Given the description of an element on the screen output the (x, y) to click on. 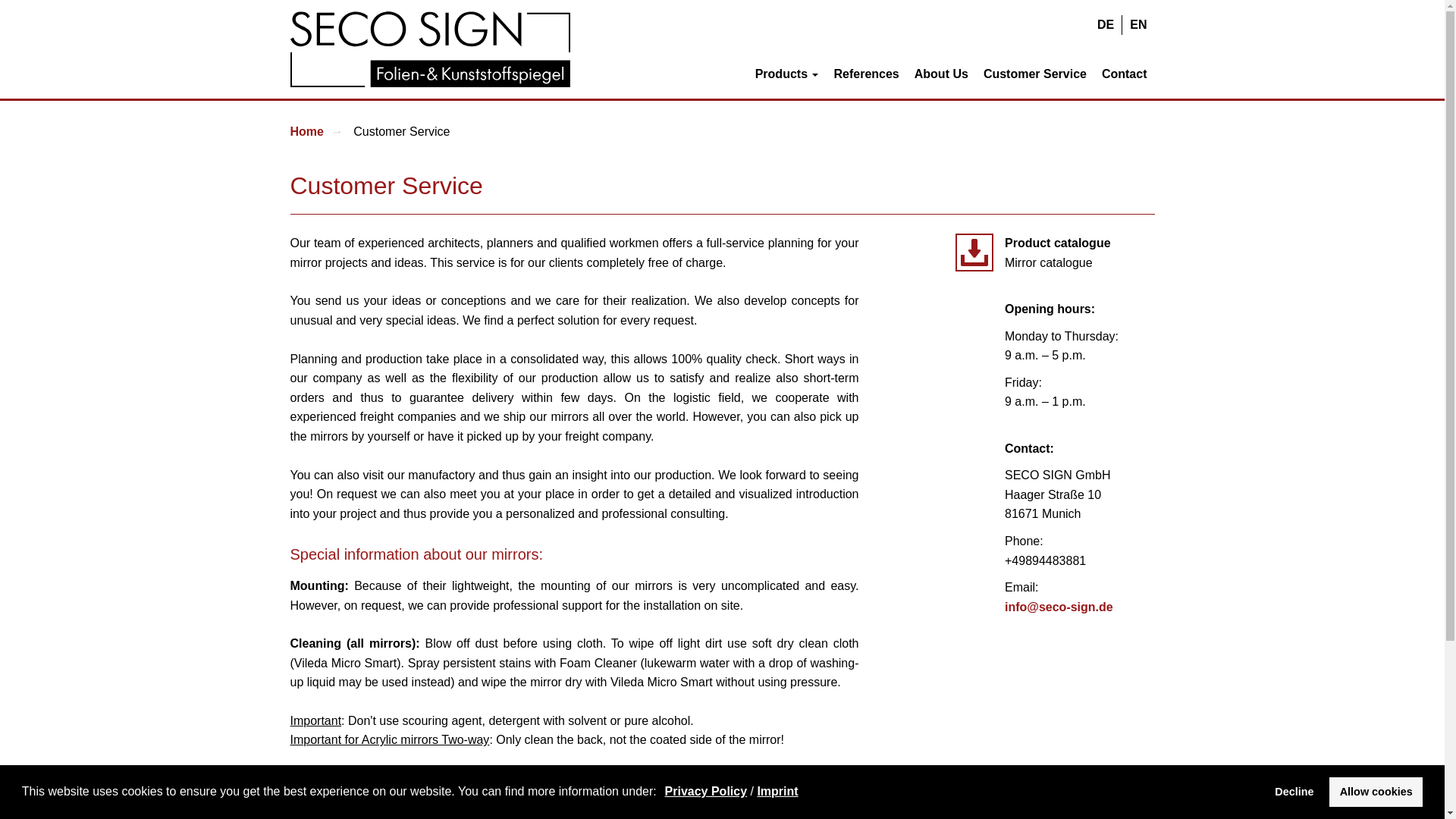
Decline (1294, 791)
Home (306, 131)
Imprint (777, 790)
About Us (941, 73)
Privacy Policy (706, 790)
Contact (1124, 73)
Products (787, 73)
References (865, 73)
EN (1137, 25)
Allow cookies (1375, 791)
Customer Service (1034, 73)
SECO SIGN GmbH Logo (429, 48)
DE (1105, 25)
